Given the description of an element on the screen output the (x, y) to click on. 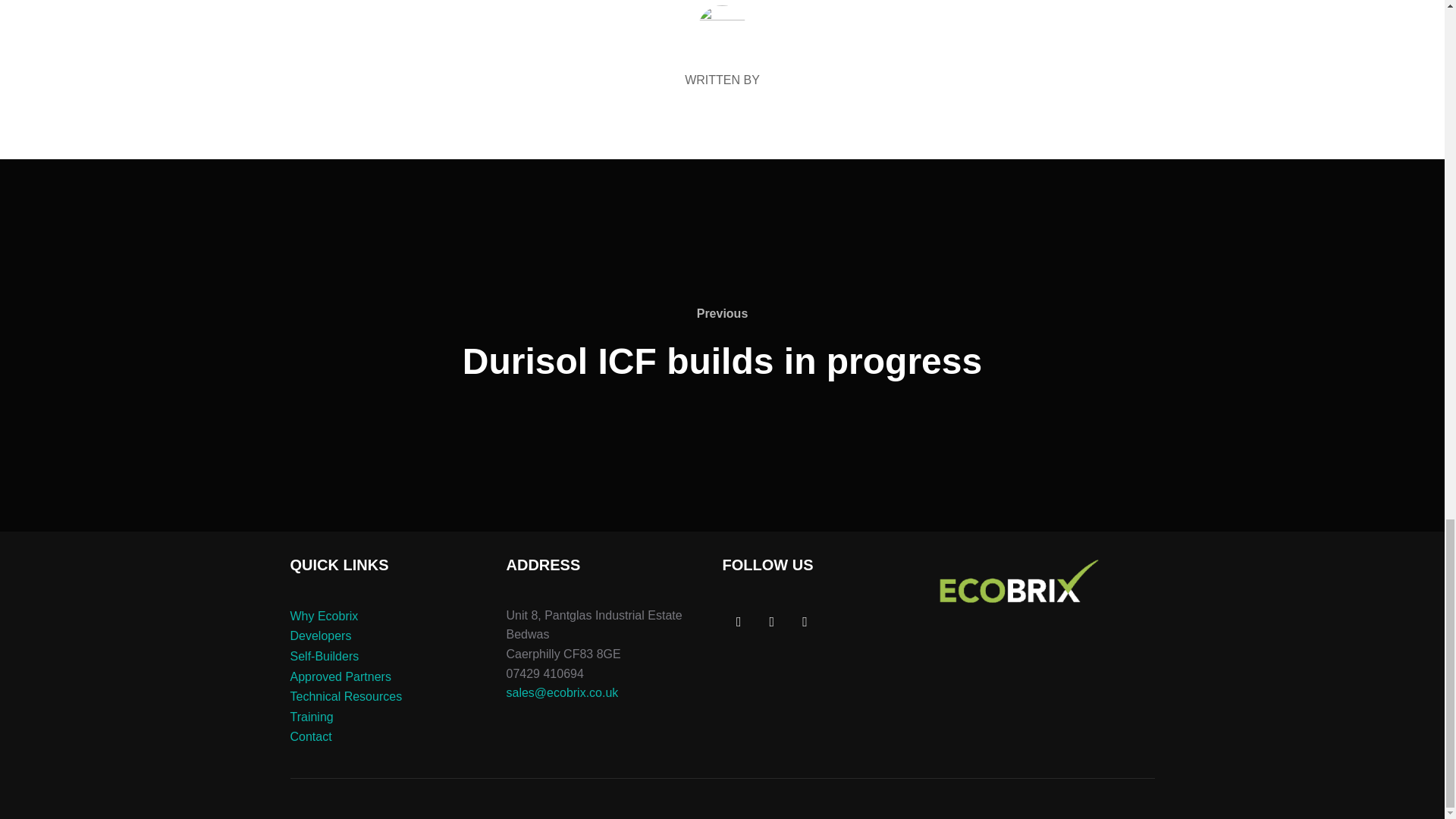
X (772, 622)
Instagram (805, 622)
Facebook (738, 622)
